Given the description of an element on the screen output the (x, y) to click on. 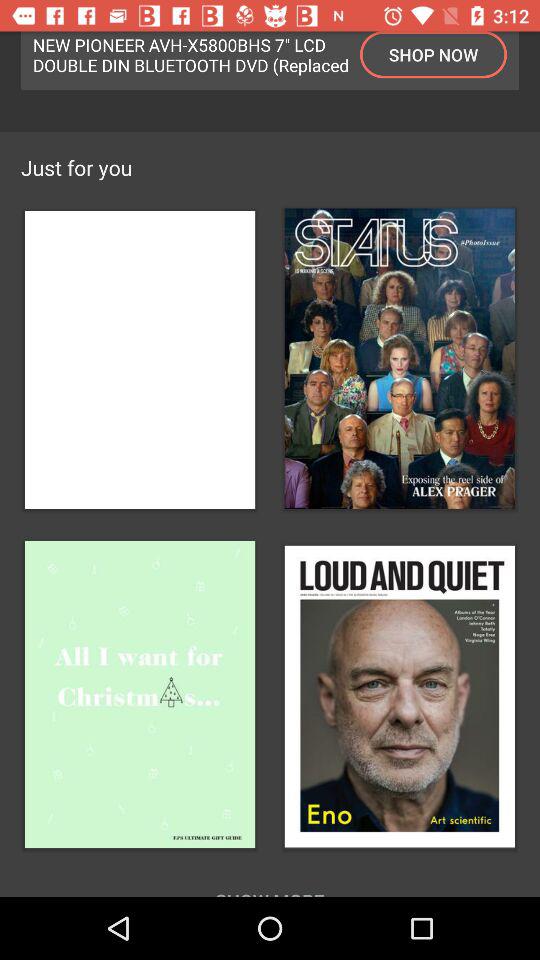
select item to the right of new pioneer avh icon (433, 54)
